Given the description of an element on the screen output the (x, y) to click on. 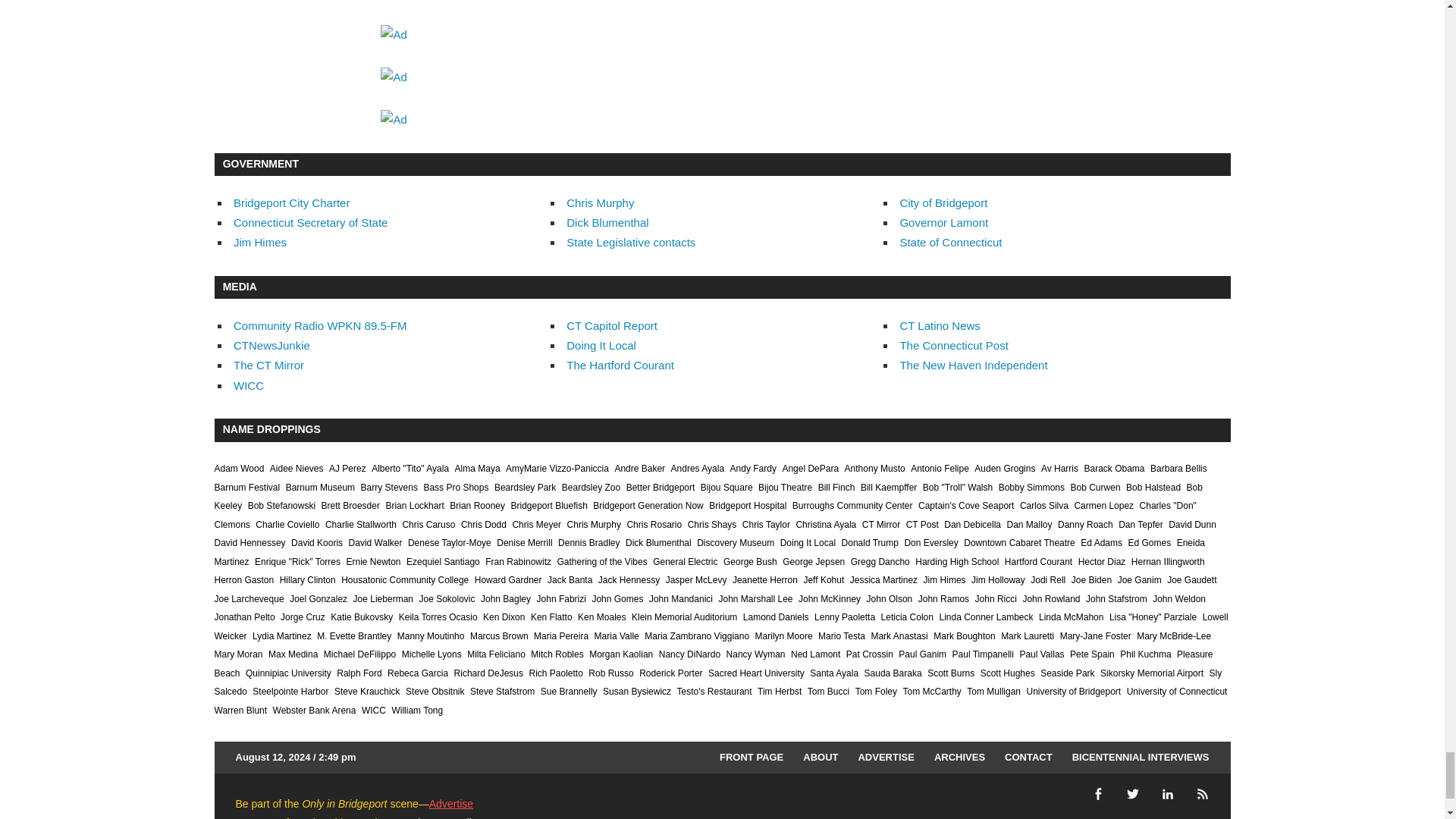
The official Bridgeport website (943, 202)
The Connecticut Post Online (953, 345)
Because you need it. Bad. (271, 345)
Secretary of the State (309, 222)
The Hartford Courant (620, 364)
CT Capitol Report (612, 325)
State of Connecticut (950, 241)
The New Haven Independent (972, 364)
Contact your State Legislators (630, 241)
